Given the description of an element on the screen output the (x, y) to click on. 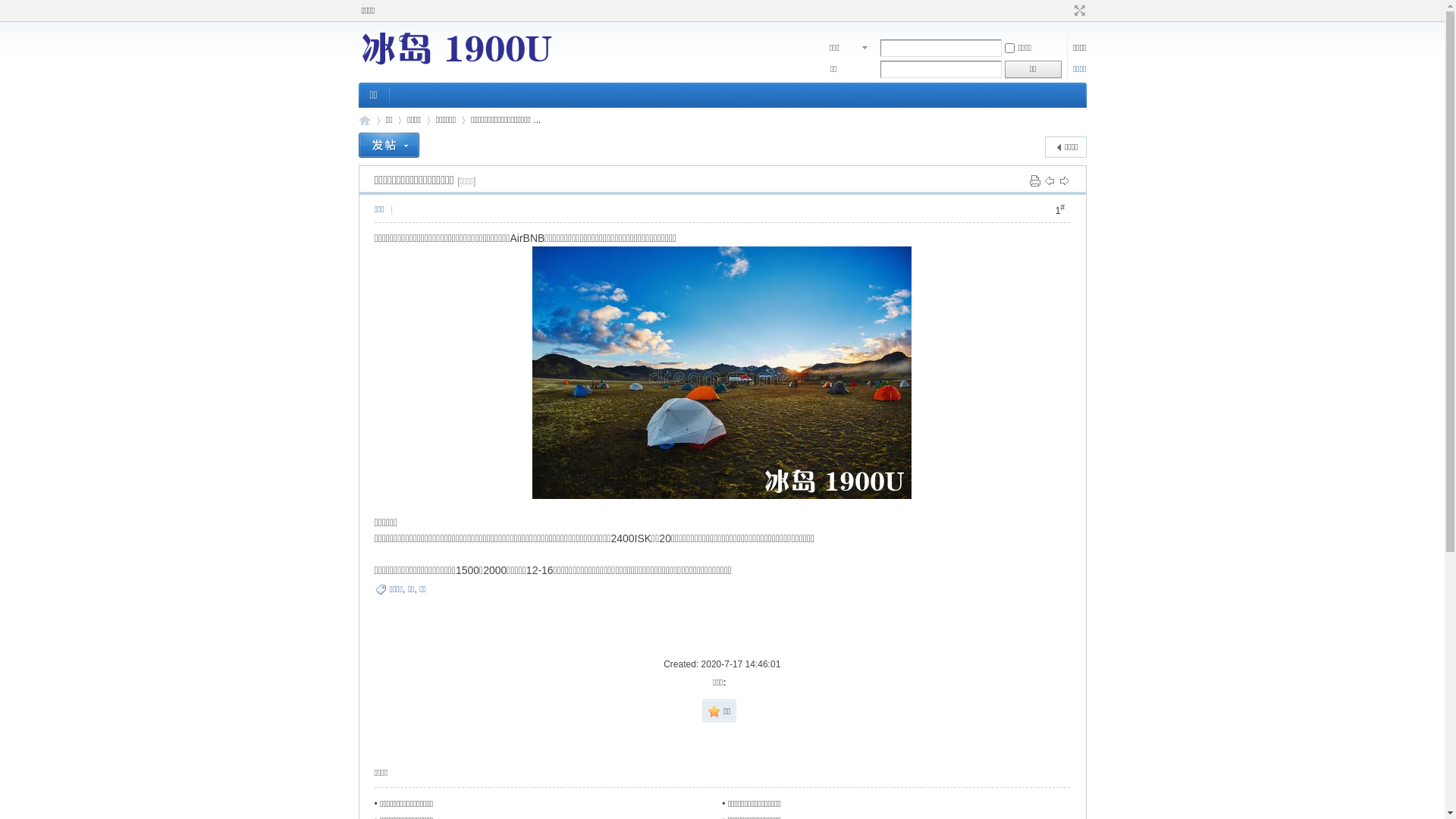
1# Element type: text (1060, 209)
